Given the description of an element on the screen output the (x, y) to click on. 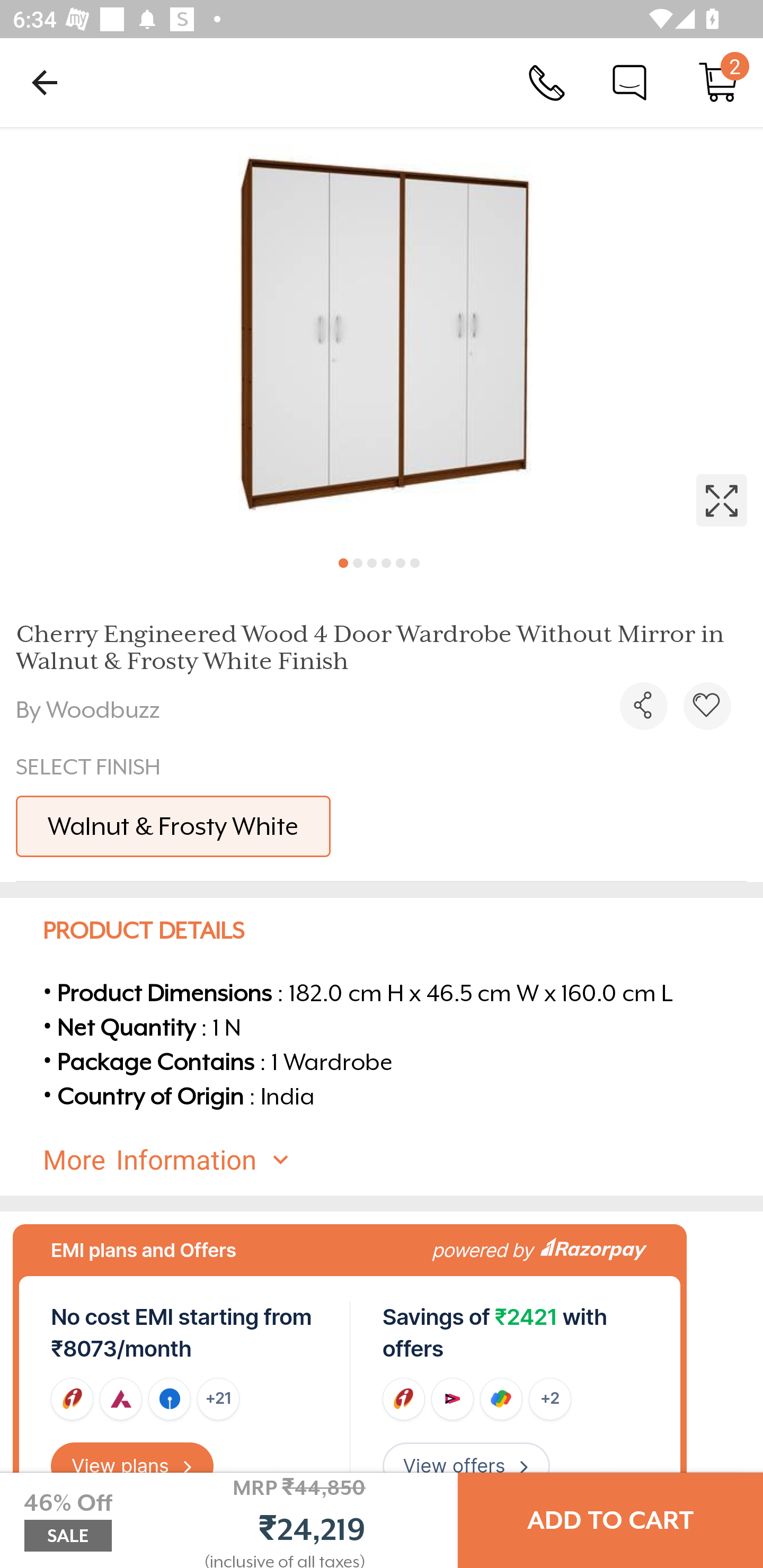
Navigate up (44, 82)
Call Us (546, 81)
Chat (629, 81)
Cart (718, 81)
 (381, 334)
 (643, 706)
 (706, 706)
Walnut & Frosty White (173, 825)
More Information  (396, 1160)
View plans (132, 1466)
View offers (465, 1466)
ADD TO CART (610, 1520)
